Given the description of an element on the screen output the (x, y) to click on. 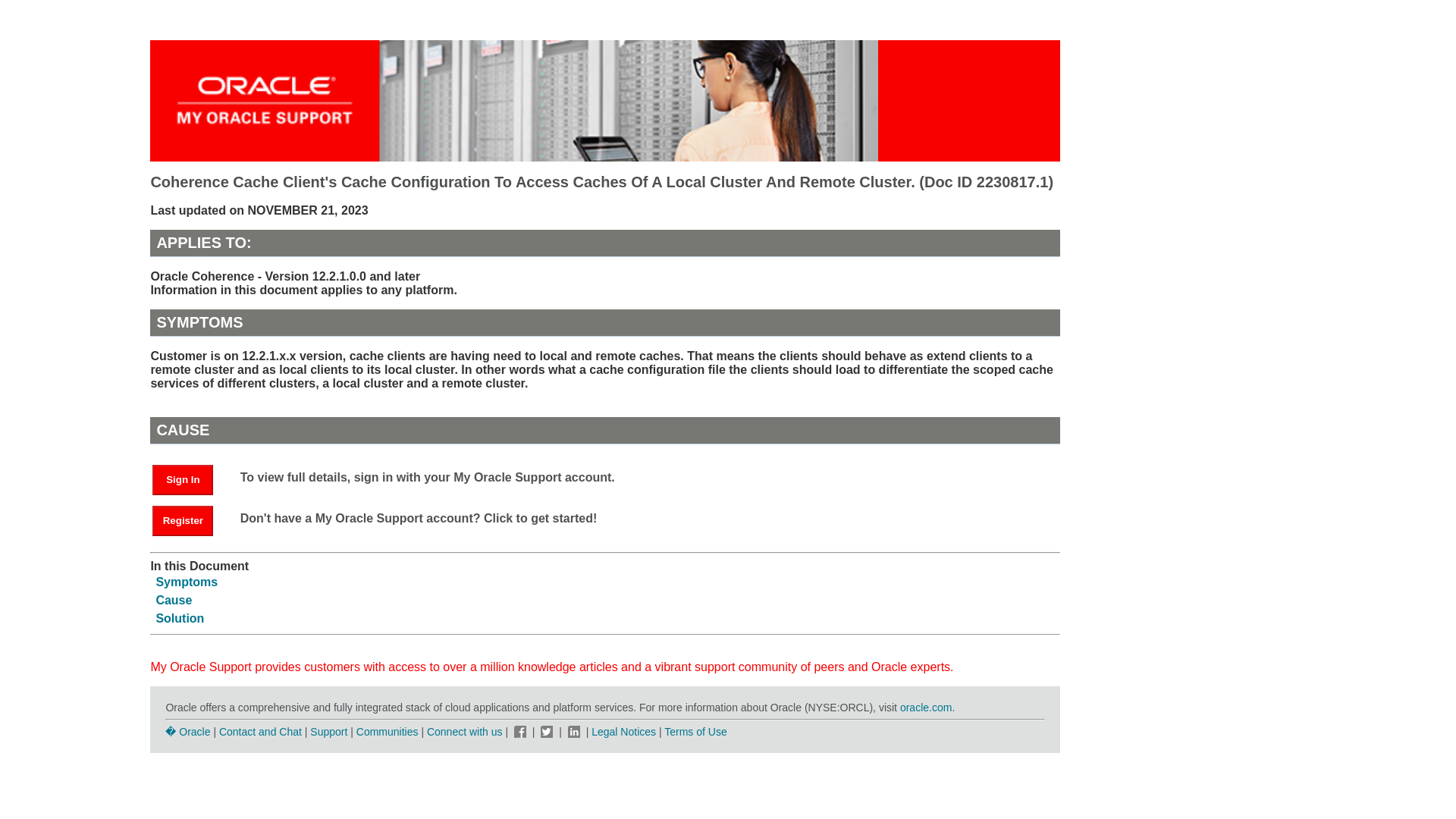
oracle.com (925, 707)
Symptoms (185, 581)
Communities (387, 731)
Register (190, 519)
Legal Notices (623, 731)
Terms of Use (694, 731)
Register (182, 521)
Connect with us (465, 731)
Solution (179, 617)
Contact and Chat (260, 731)
